Given the description of an element on the screen output the (x, y) to click on. 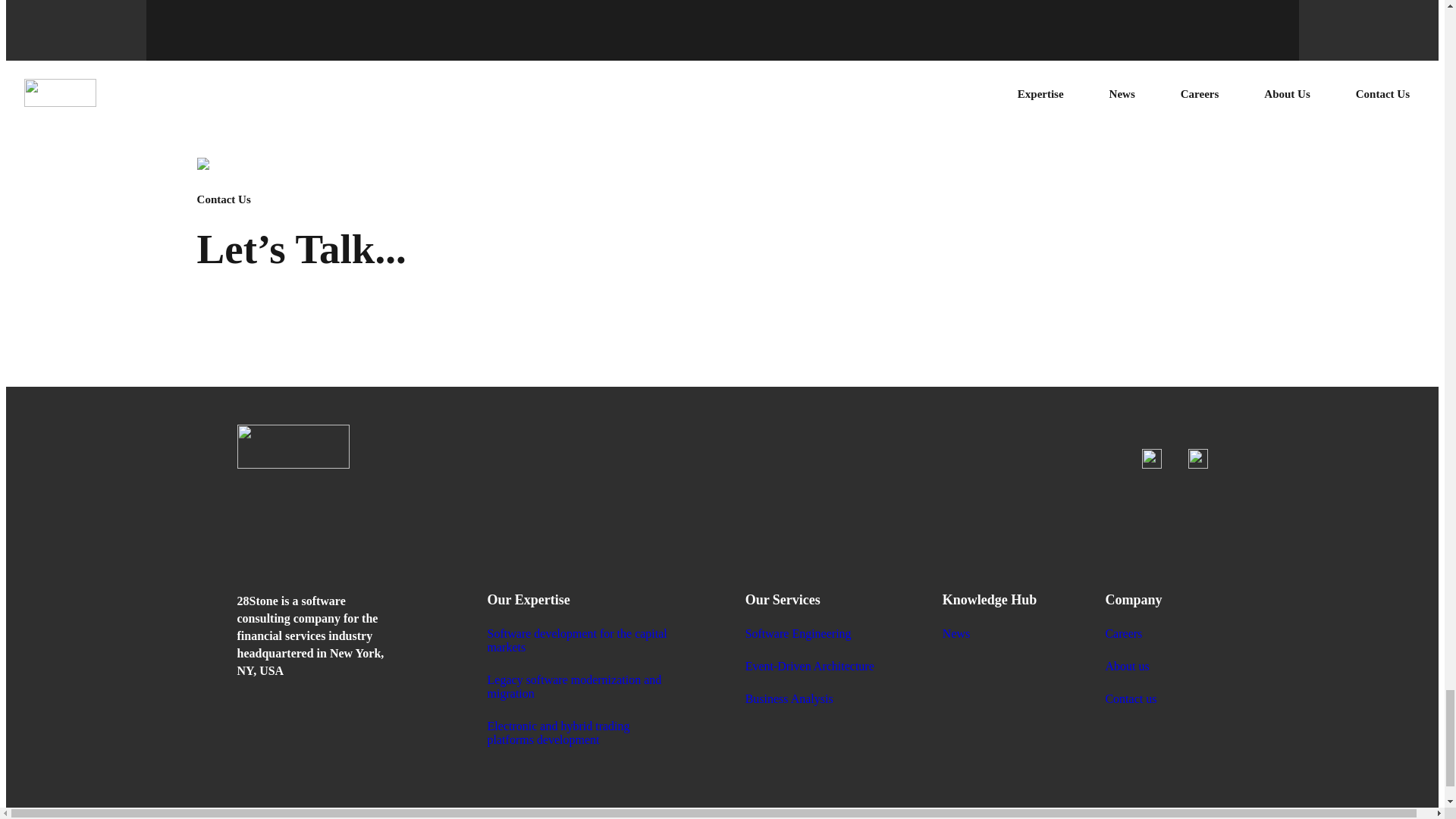
Software development for the capital markets (582, 631)
Event-Driven Architecture (810, 656)
News (989, 624)
About us (1133, 656)
Software Engineering (810, 624)
Business Analysis (810, 689)
Careers (1133, 624)
Electronic and hybrid trading platforms development (582, 723)
Legacy software modernization and migration (582, 677)
Contact us (1133, 689)
